Given the description of an element on the screen output the (x, y) to click on. 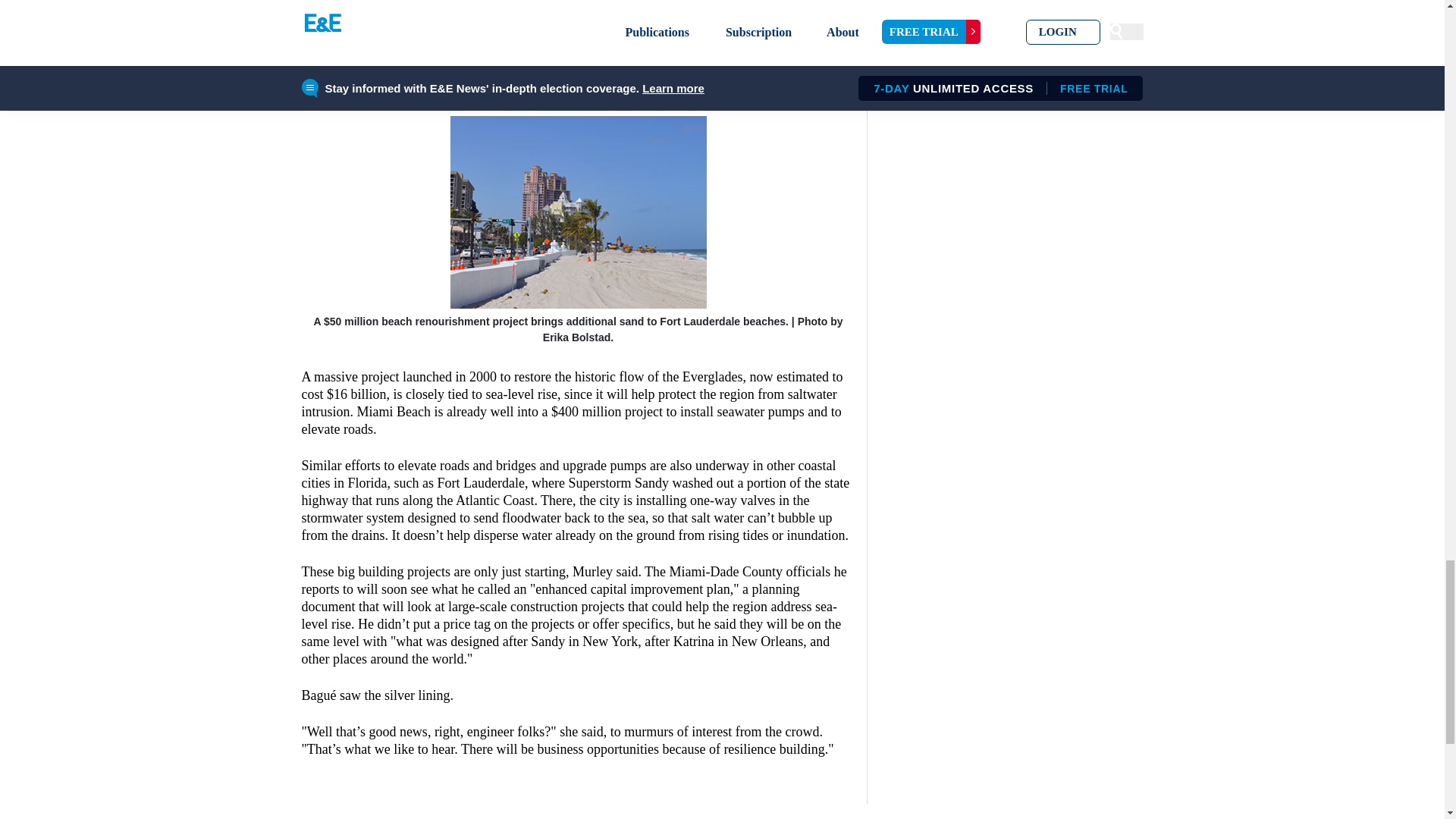
Congress. Legislation. Politics. (722, 811)
Late-breaking news. (1058, 811)
The transformation of the energy sector. (385, 811)
Policy. Science. Business. (554, 811)
The leader in energy and environment news. (890, 811)
